Given the description of an element on the screen output the (x, y) to click on. 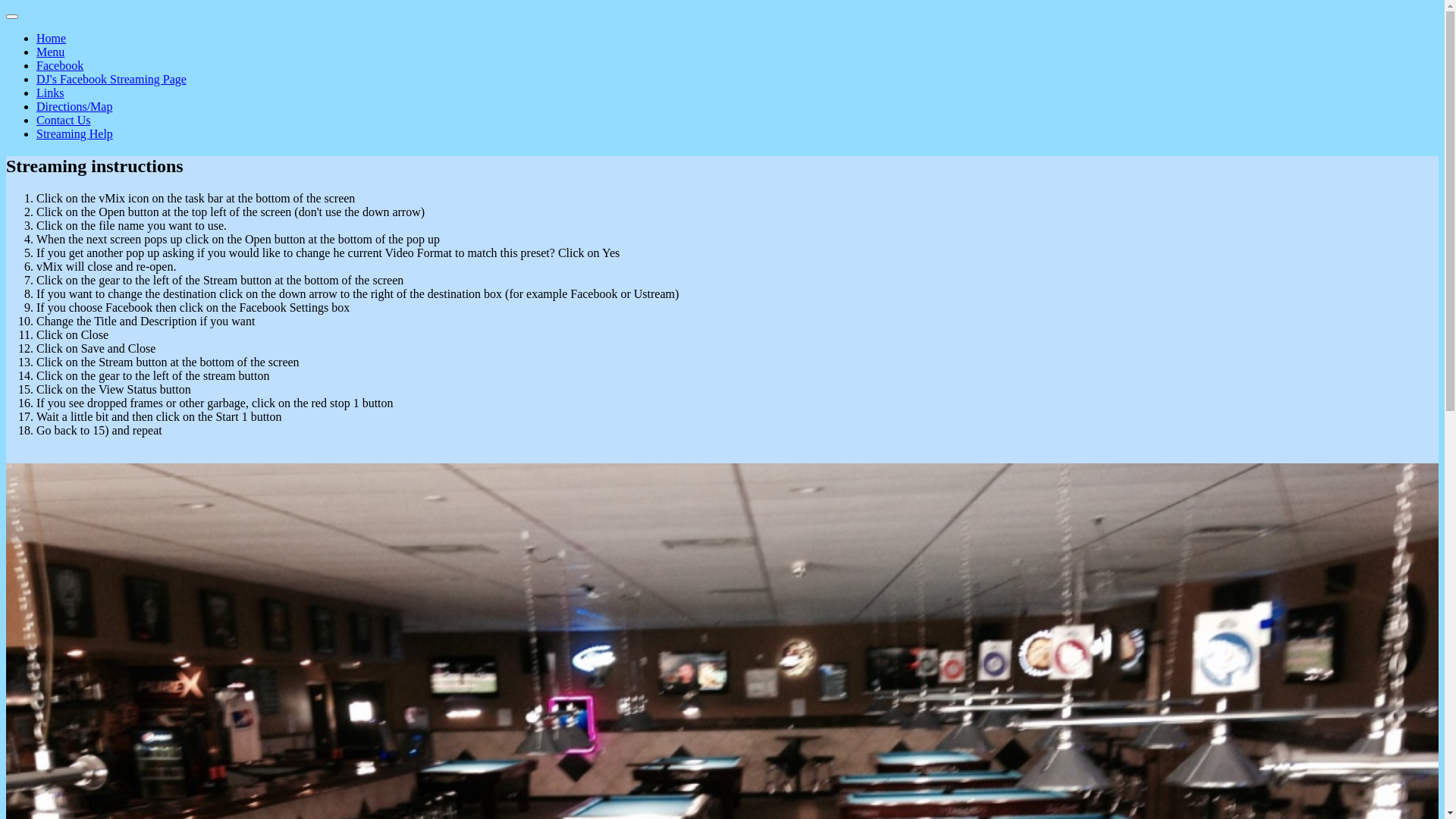
Facebook Element type: text (59, 65)
Streaming Help Element type: text (74, 133)
DJ's Facebook Streaming Page Element type: text (111, 78)
Links Element type: text (49, 92)
Home Element type: text (50, 37)
Menu Element type: text (50, 51)
Contact Us Element type: text (63, 119)
Directions/Map Element type: text (74, 106)
